Given the description of an element on the screen output the (x, y) to click on. 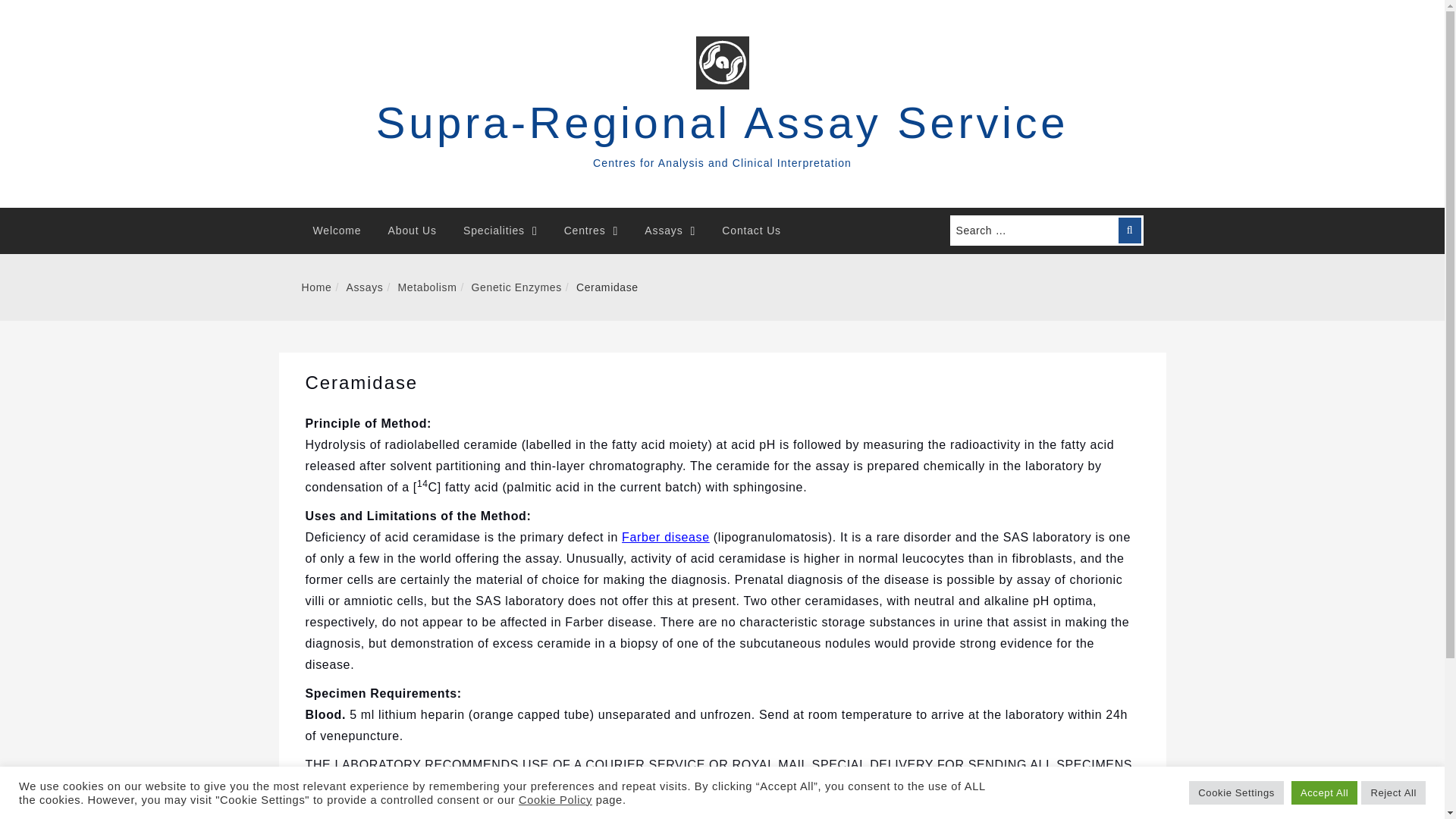
Metabolism (427, 286)
About Us (412, 230)
Welcome (336, 230)
Contact Us (751, 230)
Specialities (499, 230)
Home (316, 286)
Assays (364, 286)
Assays (669, 230)
Supra-Regional Assay Service (721, 122)
Centres (591, 230)
